Given the description of an element on the screen output the (x, y) to click on. 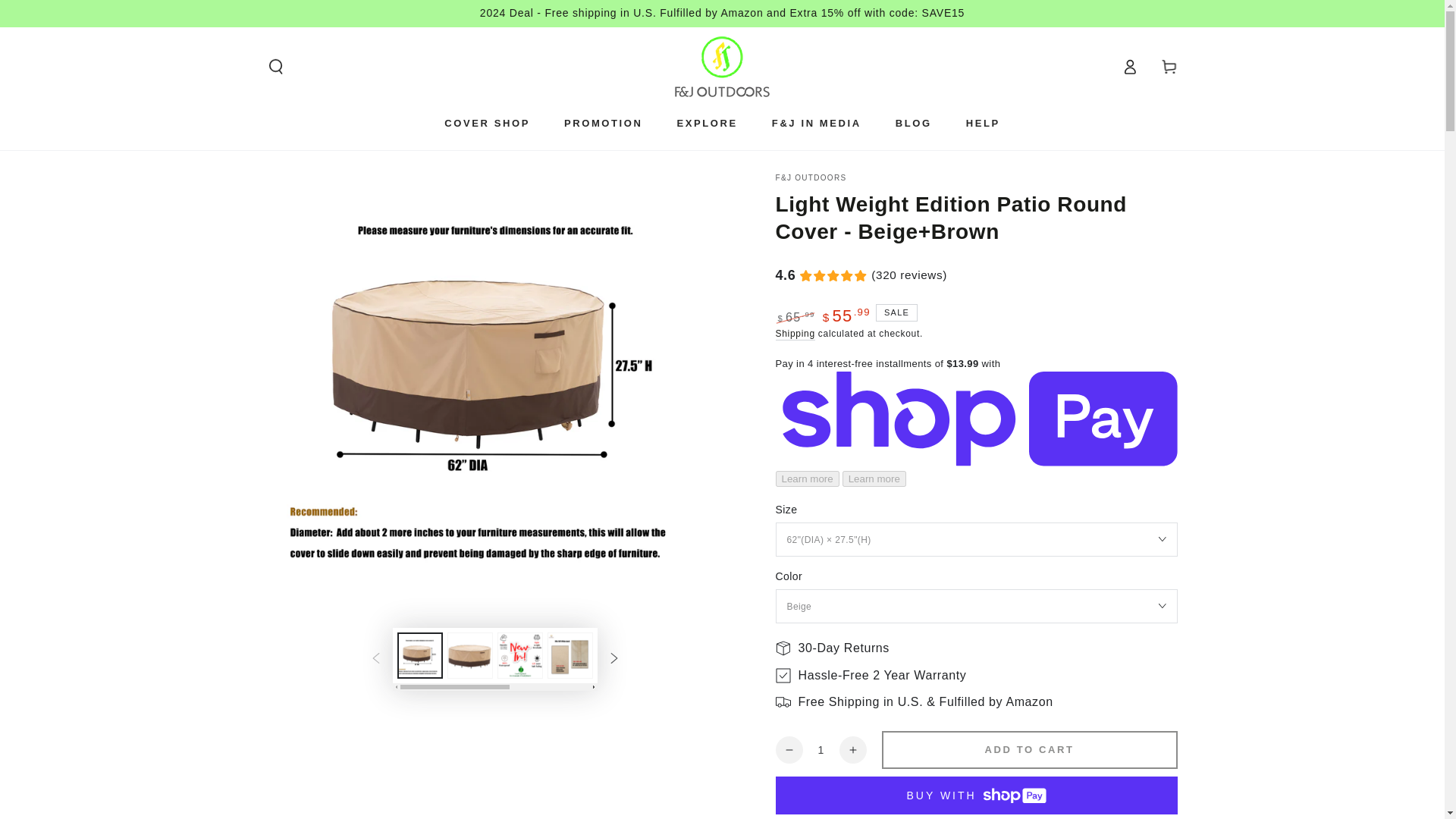
SKIP TO CONTENT (67, 14)
1 (820, 749)
